Given the description of an element on the screen output the (x, y) to click on. 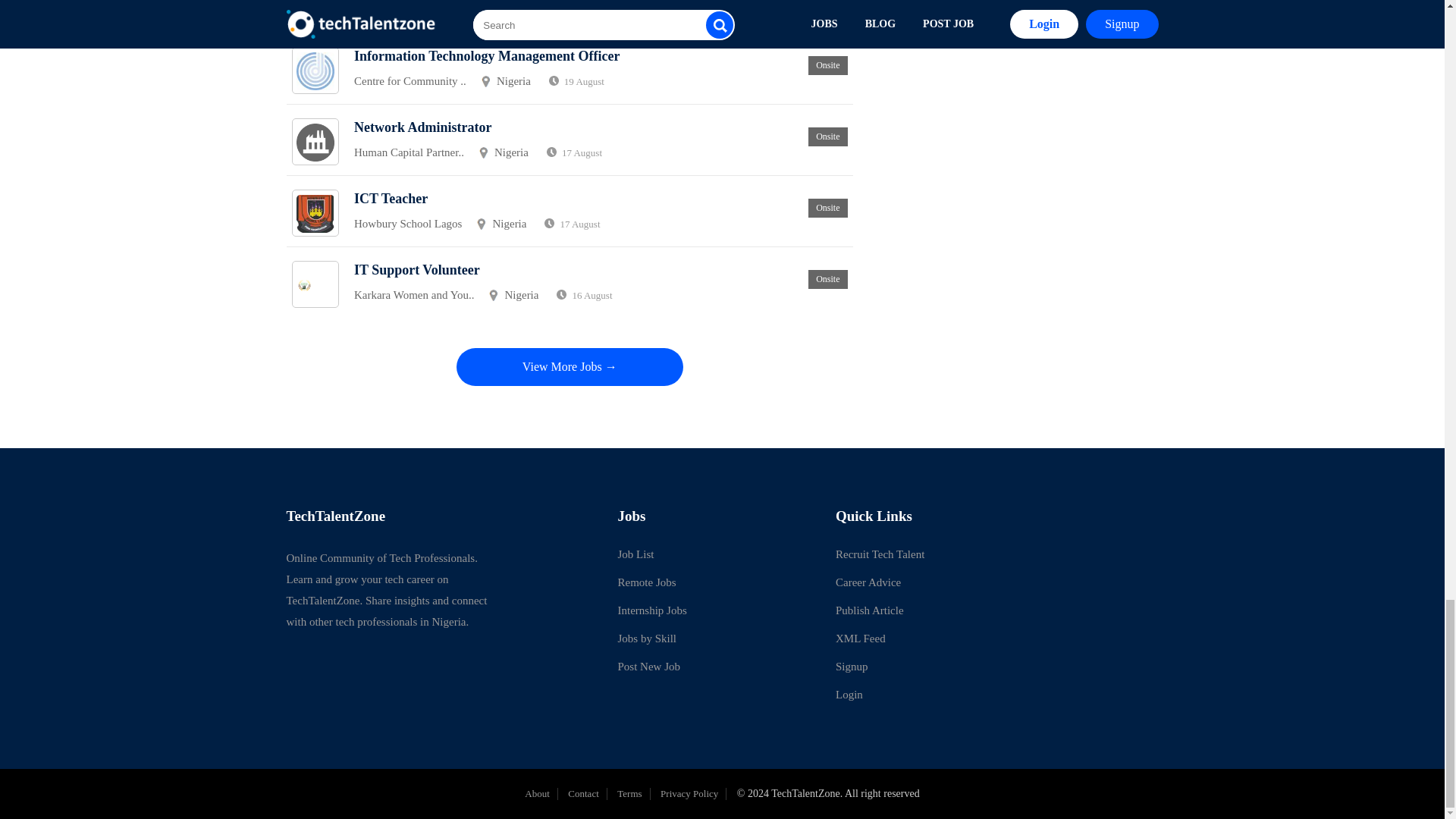
Karkara Women and You.. (413, 295)
Coastal Specialist Cl.. (403, 10)
ICT Teacher (390, 198)
Information Technology Management Officer (486, 55)
IT Support Volunteer (416, 269)
Centre for Community .. (409, 81)
Howbury School Lagos (408, 223)
Network Administrator (422, 127)
Human Capital Partner.. (408, 152)
